Given the description of an element on the screen output the (x, y) to click on. 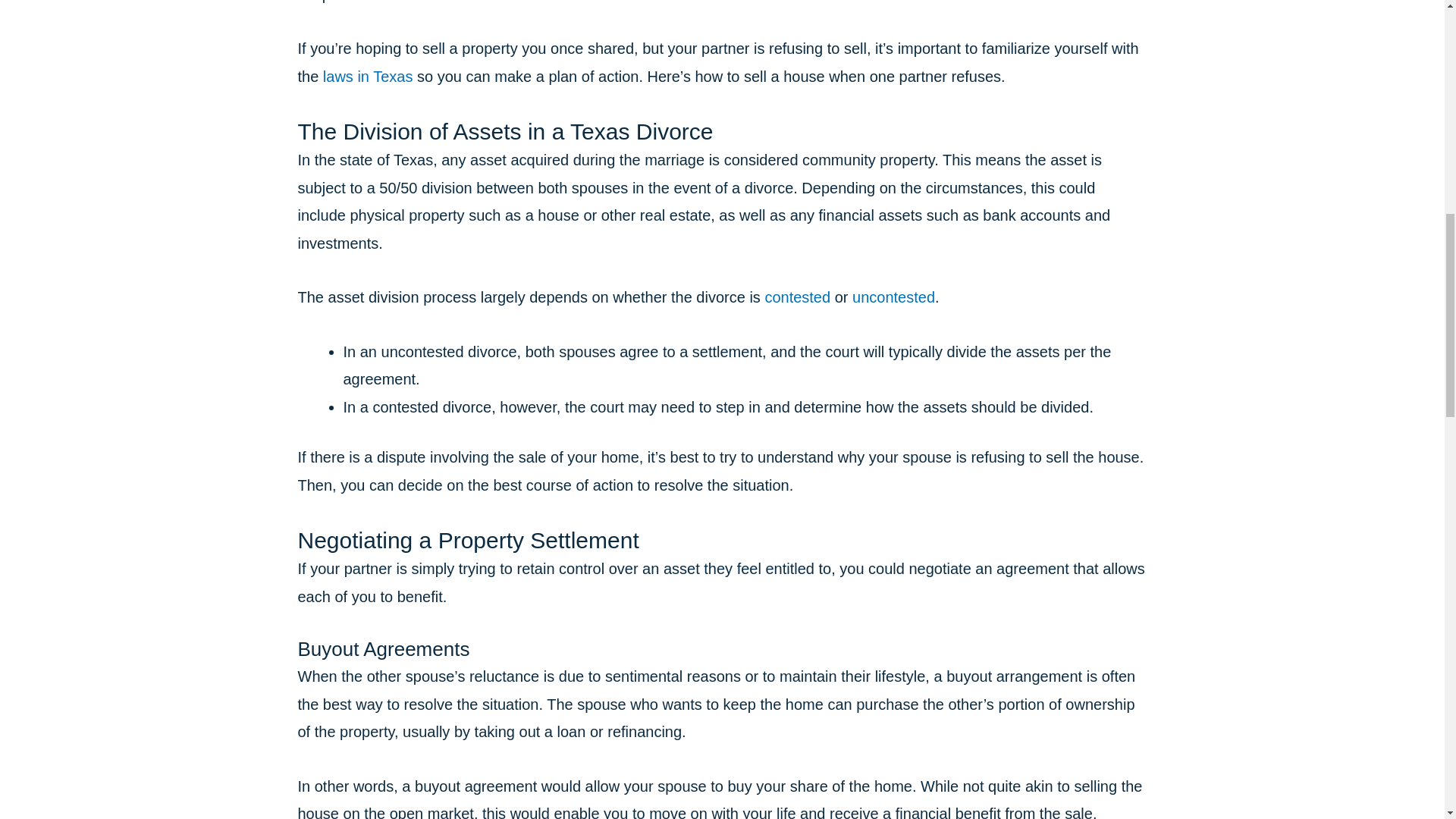
uncontested (892, 297)
laws in Texas (368, 76)
contested (796, 297)
